Given the description of an element on the screen output the (x, y) to click on. 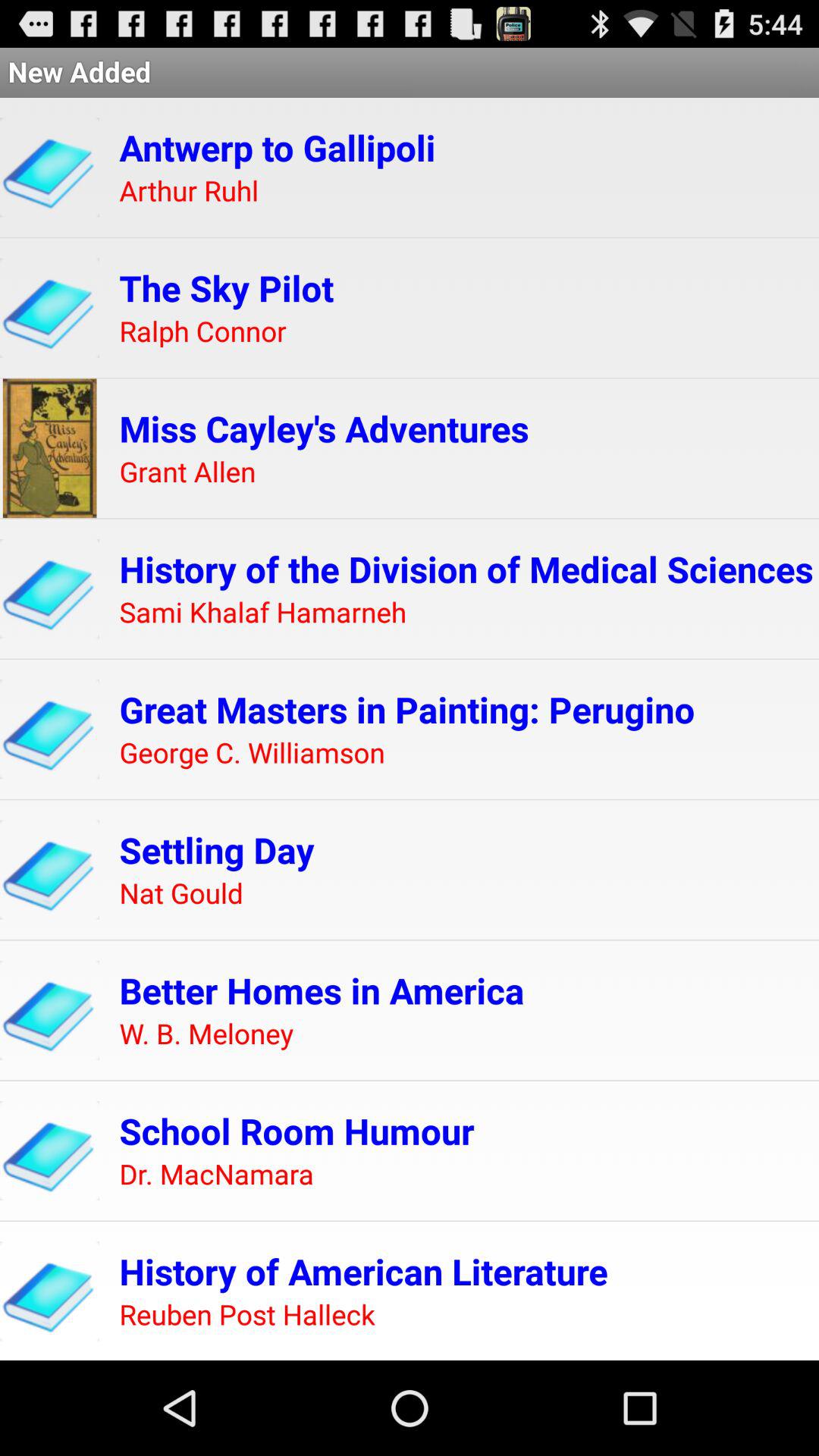
turn on the item below the great masters in item (252, 753)
